Given the description of an element on the screen output the (x, y) to click on. 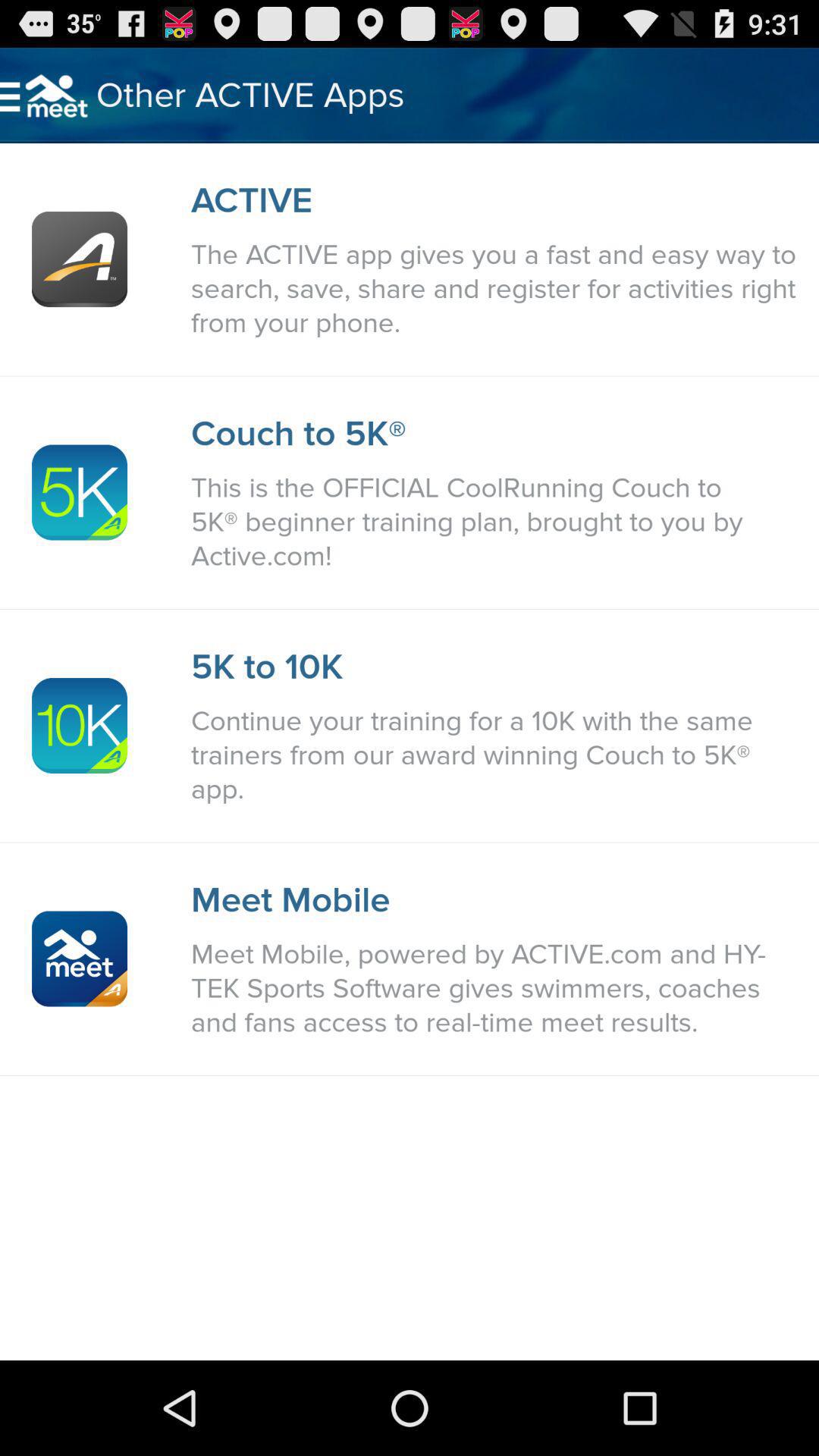
swipe to the this is the icon (497, 522)
